Given the description of an element on the screen output the (x, y) to click on. 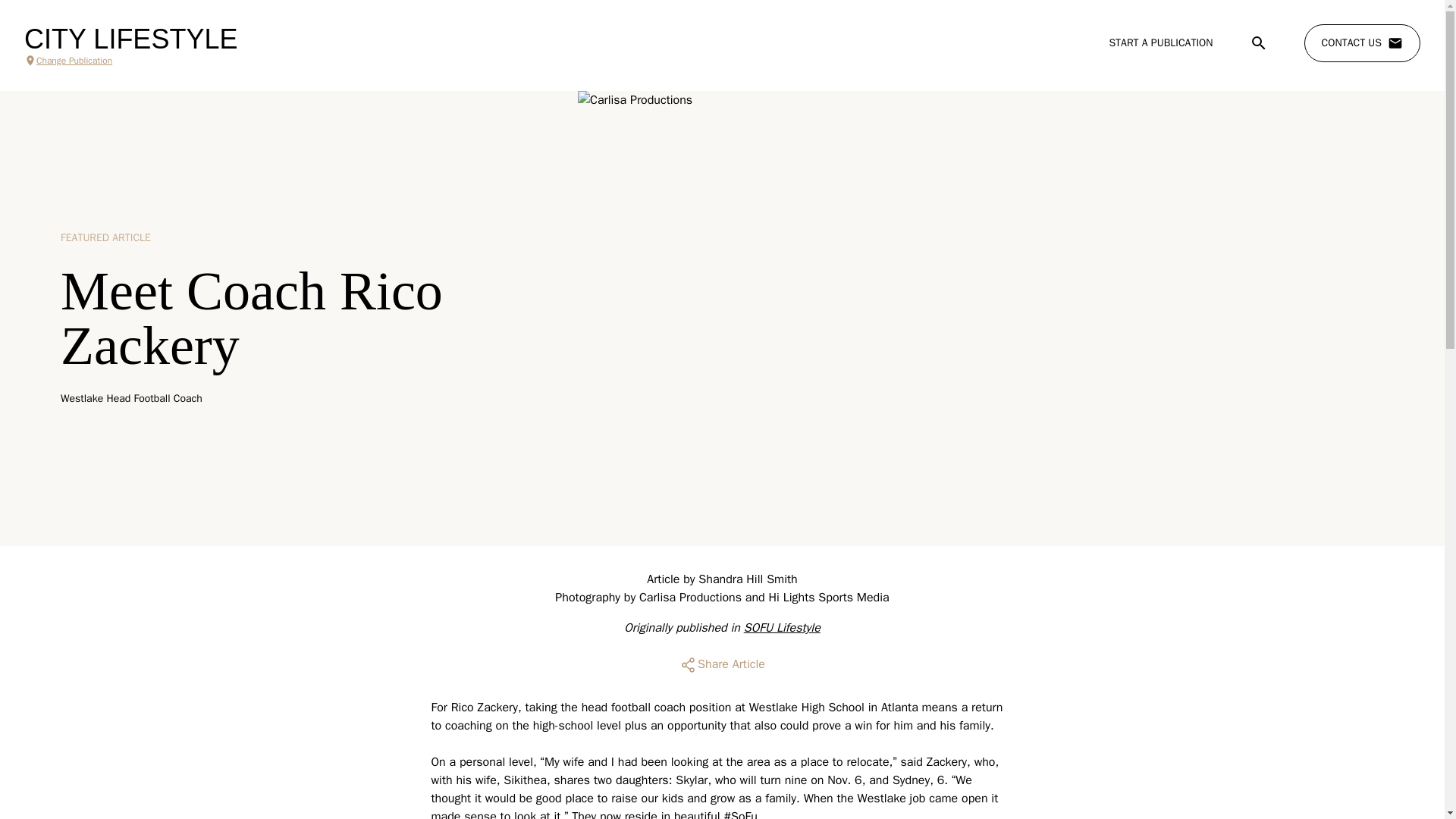
Share Article (722, 664)
CONTACT US (1362, 43)
START A PUBLICATION (1160, 42)
SOFU Lifestyle (782, 627)
CITY LIFESTYLE (130, 39)
Change Publication (130, 60)
